Given the description of an element on the screen output the (x, y) to click on. 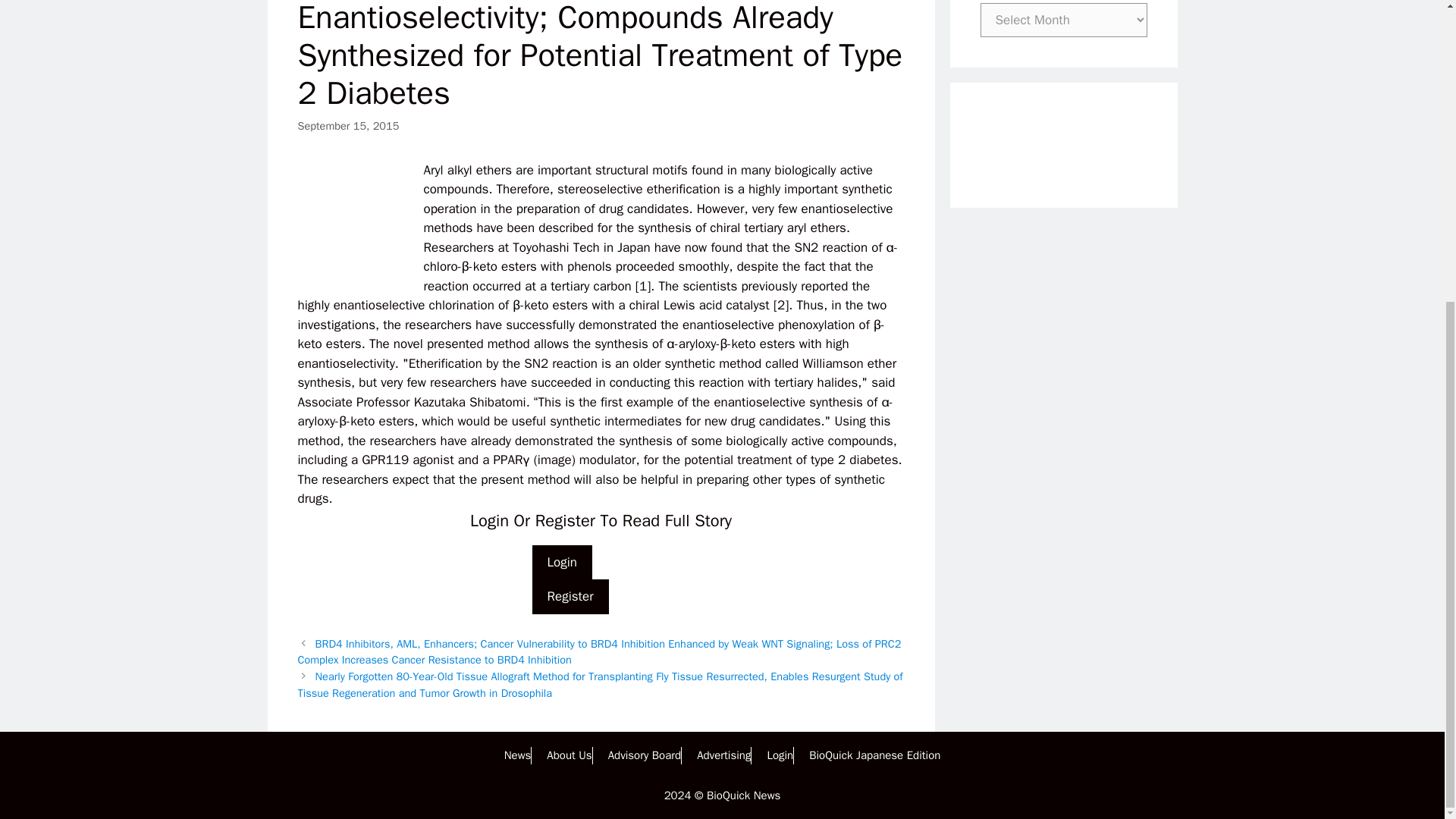
About Us (569, 755)
Login (780, 755)
News (517, 755)
Login (562, 562)
Register (570, 596)
BioQuick Japanese Edition (874, 755)
Advertising (724, 755)
Advisory Board (644, 755)
